Given the description of an element on the screen output the (x, y) to click on. 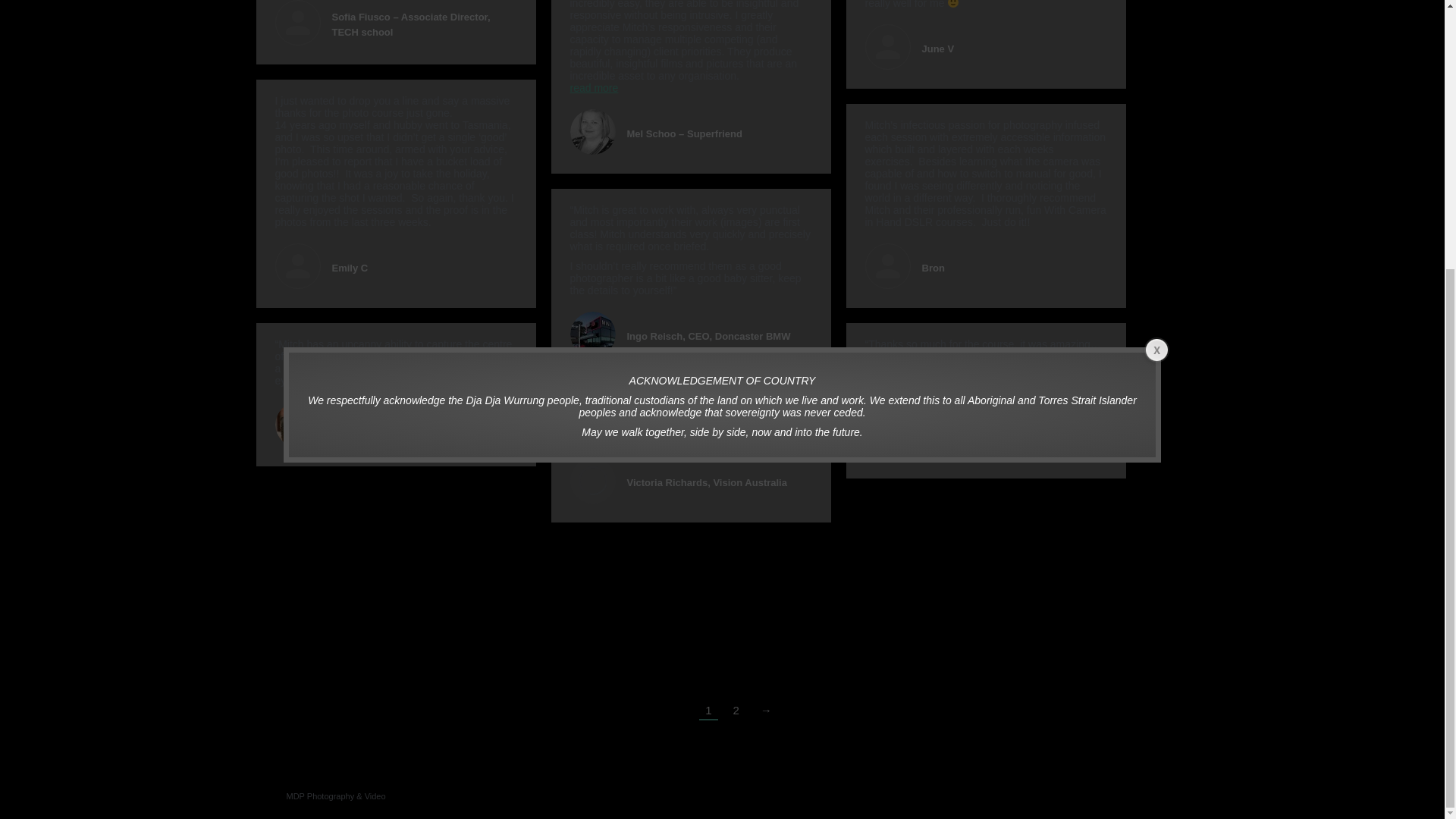
mdp-sf-headshots-2443 (592, 131)
